Given the description of an element on the screen output the (x, y) to click on. 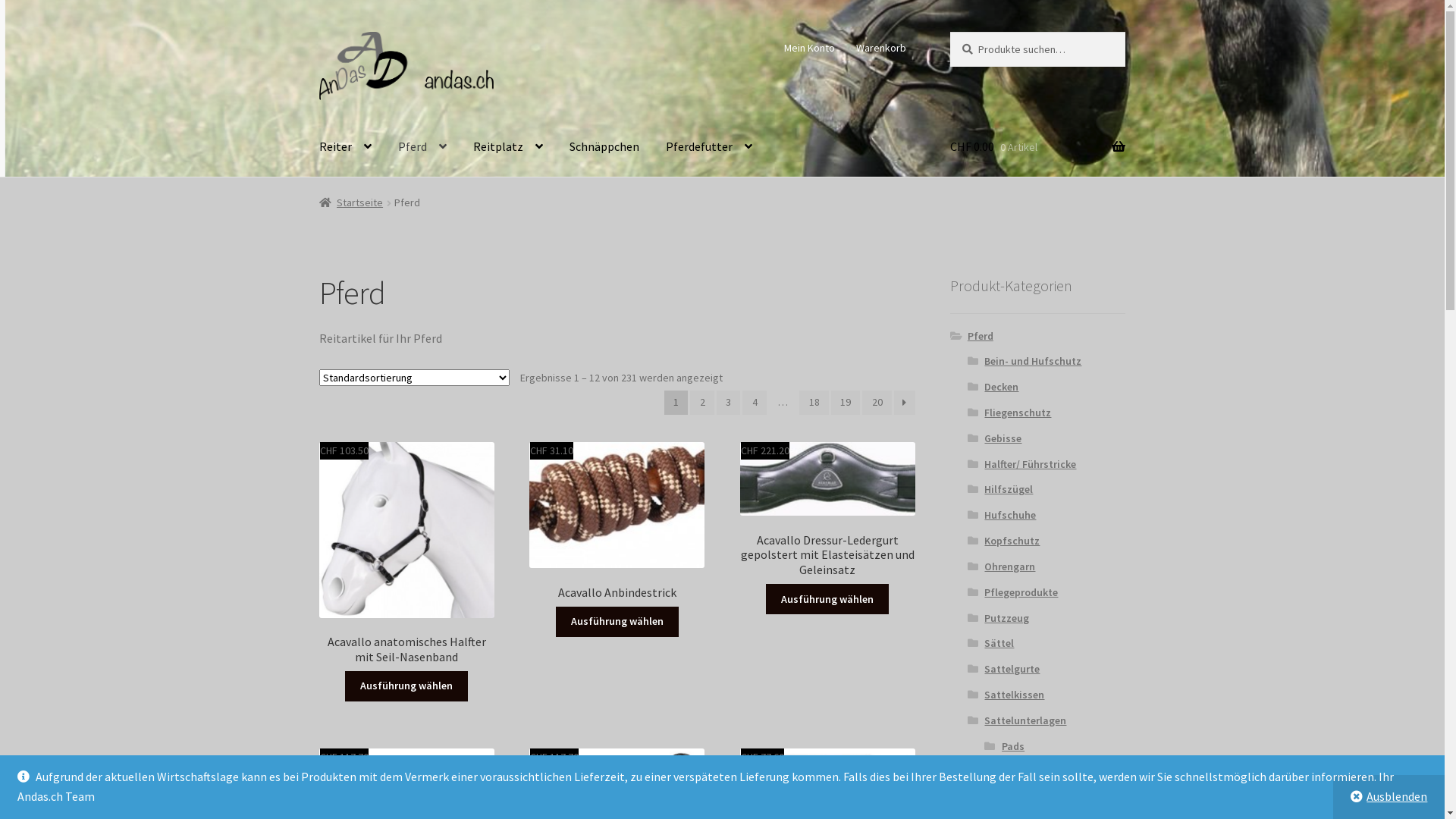
Reiter Element type: text (345, 146)
Bein- und Hufschutz Element type: text (1032, 360)
Sattelgurte Element type: text (1011, 668)
Suche Element type: text (949, 31)
Startseite Element type: text (351, 202)
3 Element type: text (728, 402)
Pads Element type: text (1012, 746)
Schabracken Element type: text (1032, 771)
Pferdefutter Element type: text (708, 146)
4 Element type: text (754, 402)
Pferd Element type: text (421, 146)
Mein Konto Element type: text (809, 47)
Sattelkissen Element type: text (1014, 694)
Acavallo anatomisches Halfter mit Seil-Nasenband
CHF 103.50 Element type: text (406, 553)
2 Element type: text (702, 402)
Warenkorb Element type: text (880, 47)
Hufschuhe Element type: text (1009, 514)
Pferd Element type: text (980, 335)
Pflegeprodukte Element type: text (1020, 592)
Putzzeug Element type: text (1006, 617)
Sattelunterlagen Element type: text (1025, 720)
20 Element type: text (876, 402)
Acavallo Anbindestrick
CHF 31.10 Element type: text (616, 520)
Ohrengarn Element type: text (1009, 566)
Zur Navigation springen Element type: text (318, 31)
Gebisse Element type: text (1002, 438)
18 Element type: text (813, 402)
Fliegenschutz Element type: text (1017, 412)
Reitplatz Element type: text (508, 146)
Decken Element type: text (1001, 386)
CHF 0.00 0 Artikel Element type: text (1037, 146)
Kopfschutz Element type: text (1011, 540)
19 Element type: text (845, 402)
